Given the description of an element on the screen output the (x, y) to click on. 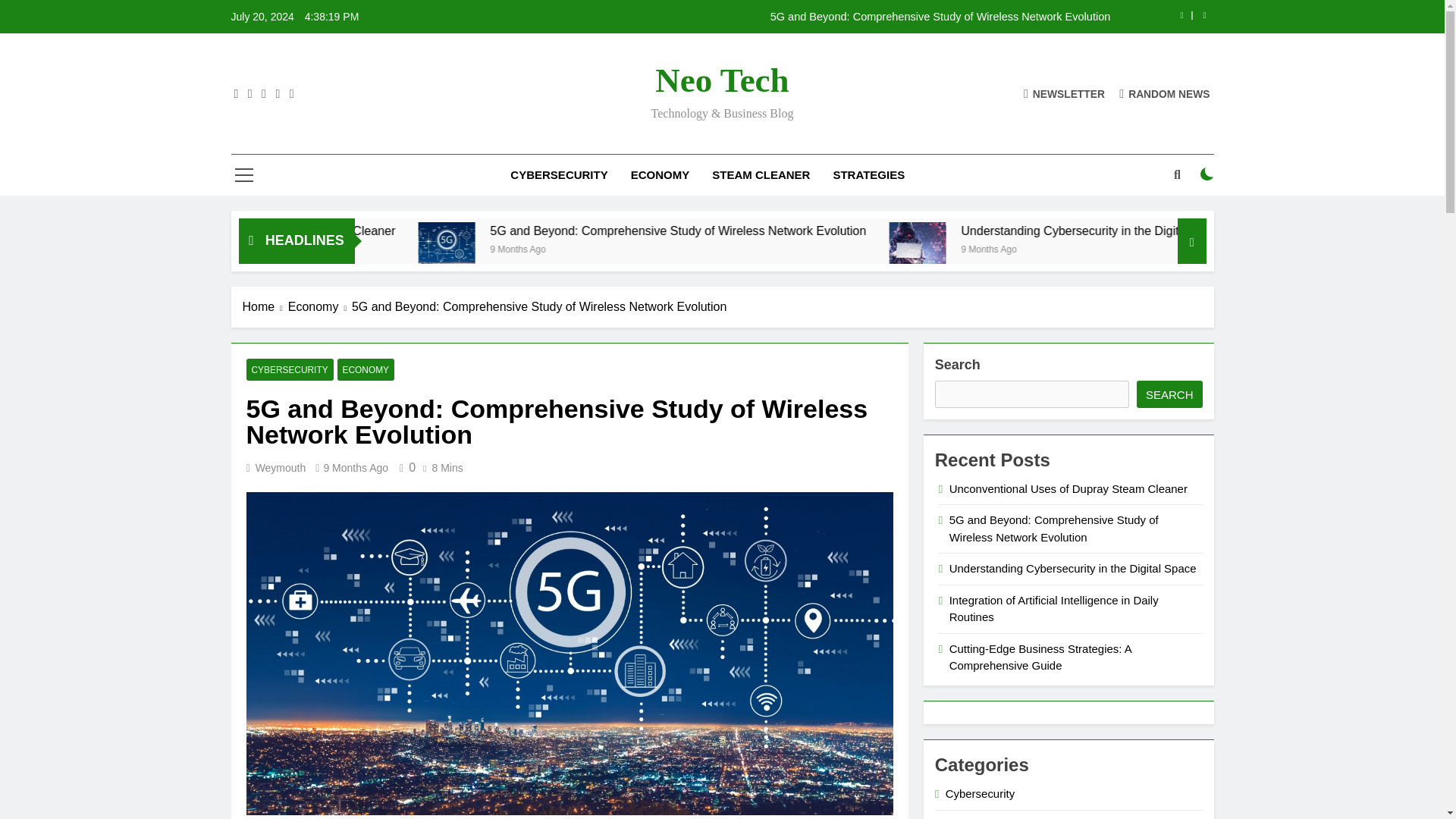
Neo Tech (722, 80)
Unconventional Uses of Dupray Steam Cleaner (464, 230)
on (1206, 173)
Understanding Cybersecurity in the Digital Space (1067, 250)
CYBERSECURITY (558, 174)
STEAM CLEANER (760, 174)
ECONOMY (660, 174)
STRATEGIES (868, 174)
Understanding Cybersecurity in the Digital Space (1275, 230)
